Given the description of an element on the screen output the (x, y) to click on. 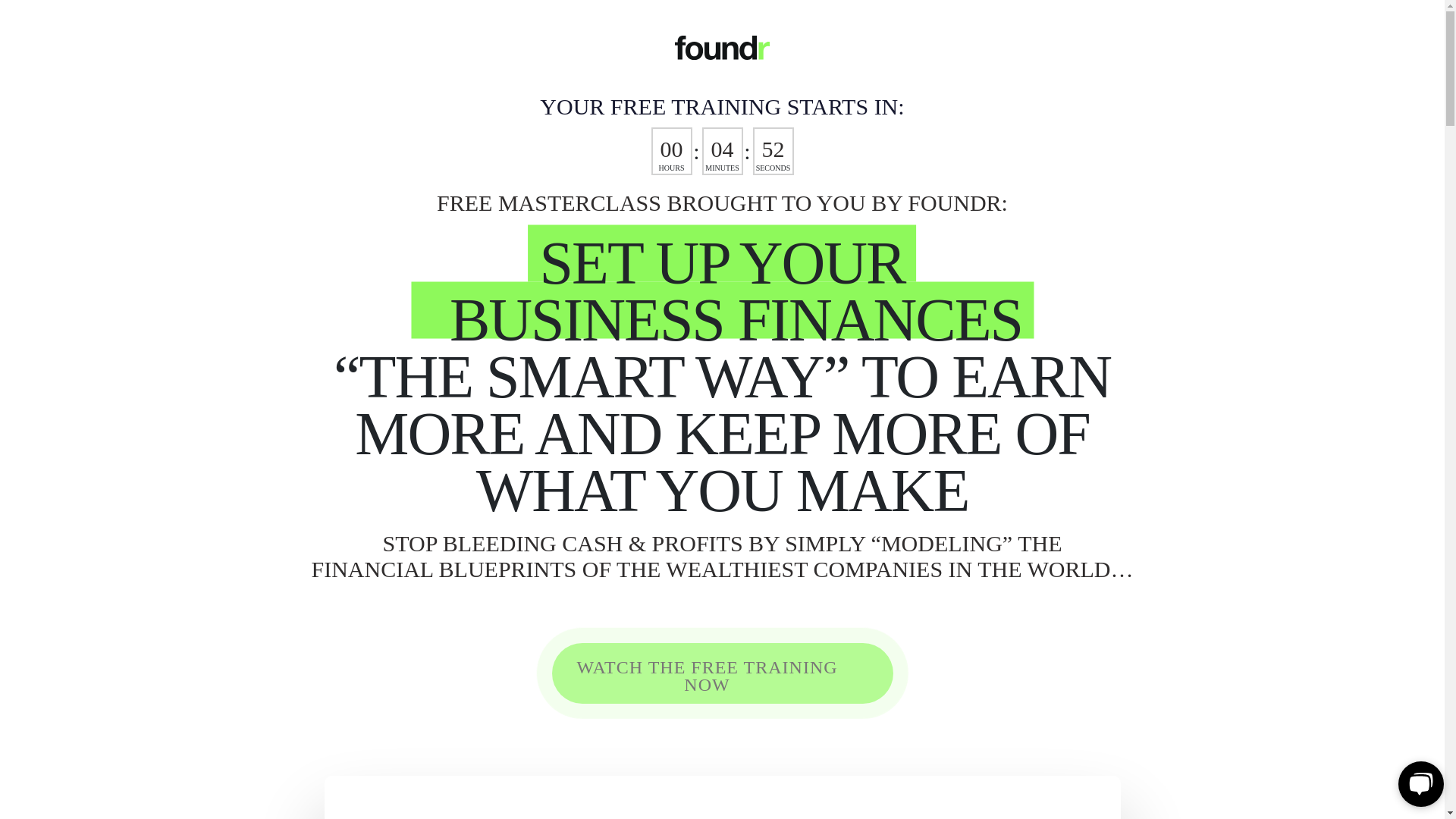
Chat Widget (1418, 782)
WATCH THE FREE TRAINING NOW (722, 672)
